Given the description of an element on the screen output the (x, y) to click on. 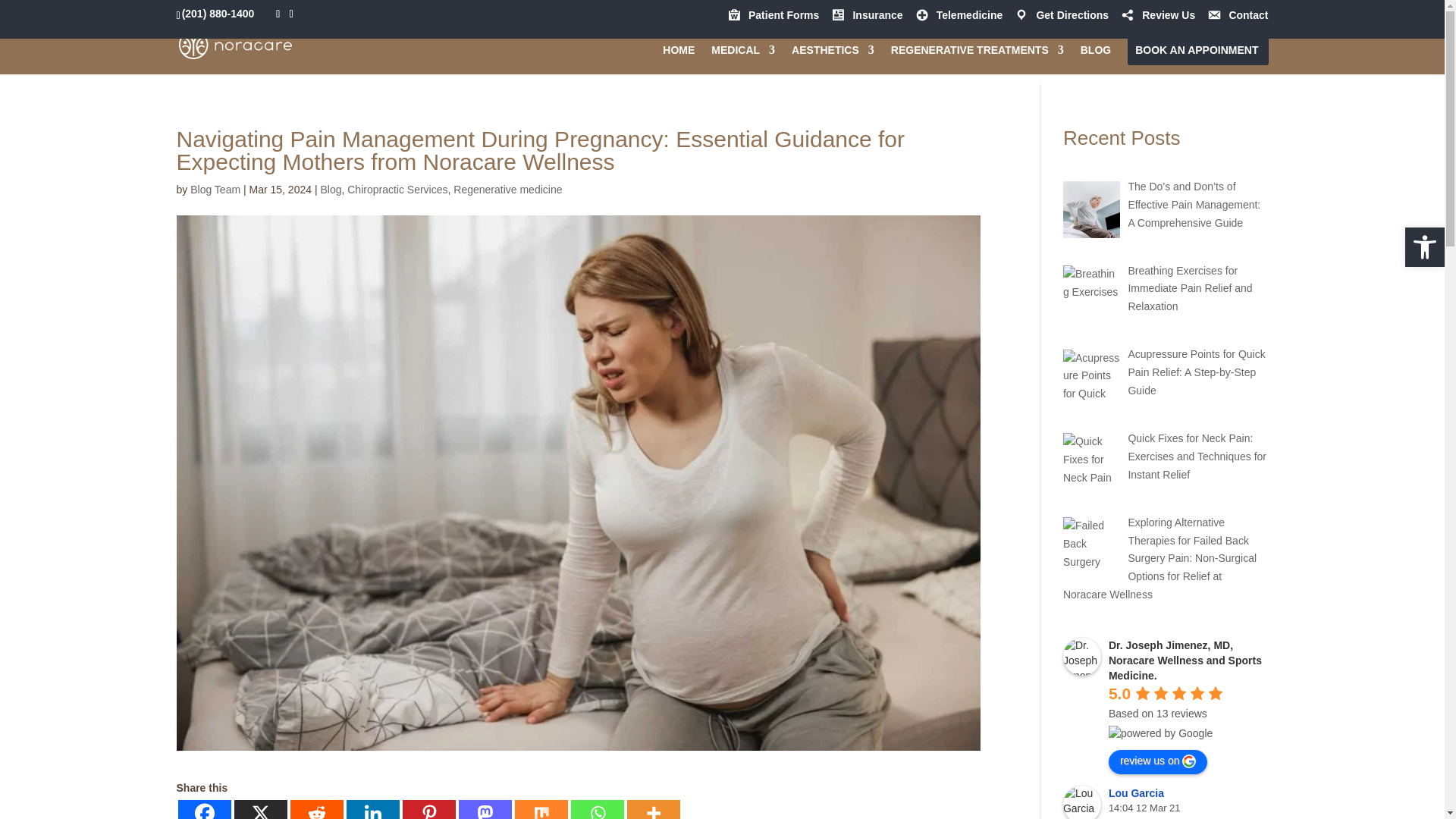
Get Directions (1060, 19)
Insurance (865, 19)
AESTHETICS (833, 55)
Telemedicine (958, 19)
Linkedin (372, 809)
Mix (540, 809)
Mastodon (484, 809)
Posts by Blog Team (215, 189)
Contact (1237, 19)
Reddit (315, 809)
Whatsapp (596, 809)
MEDICAL (742, 55)
Patient Forms (772, 19)
HOME (678, 55)
X (259, 809)
